Given the description of an element on the screen output the (x, y) to click on. 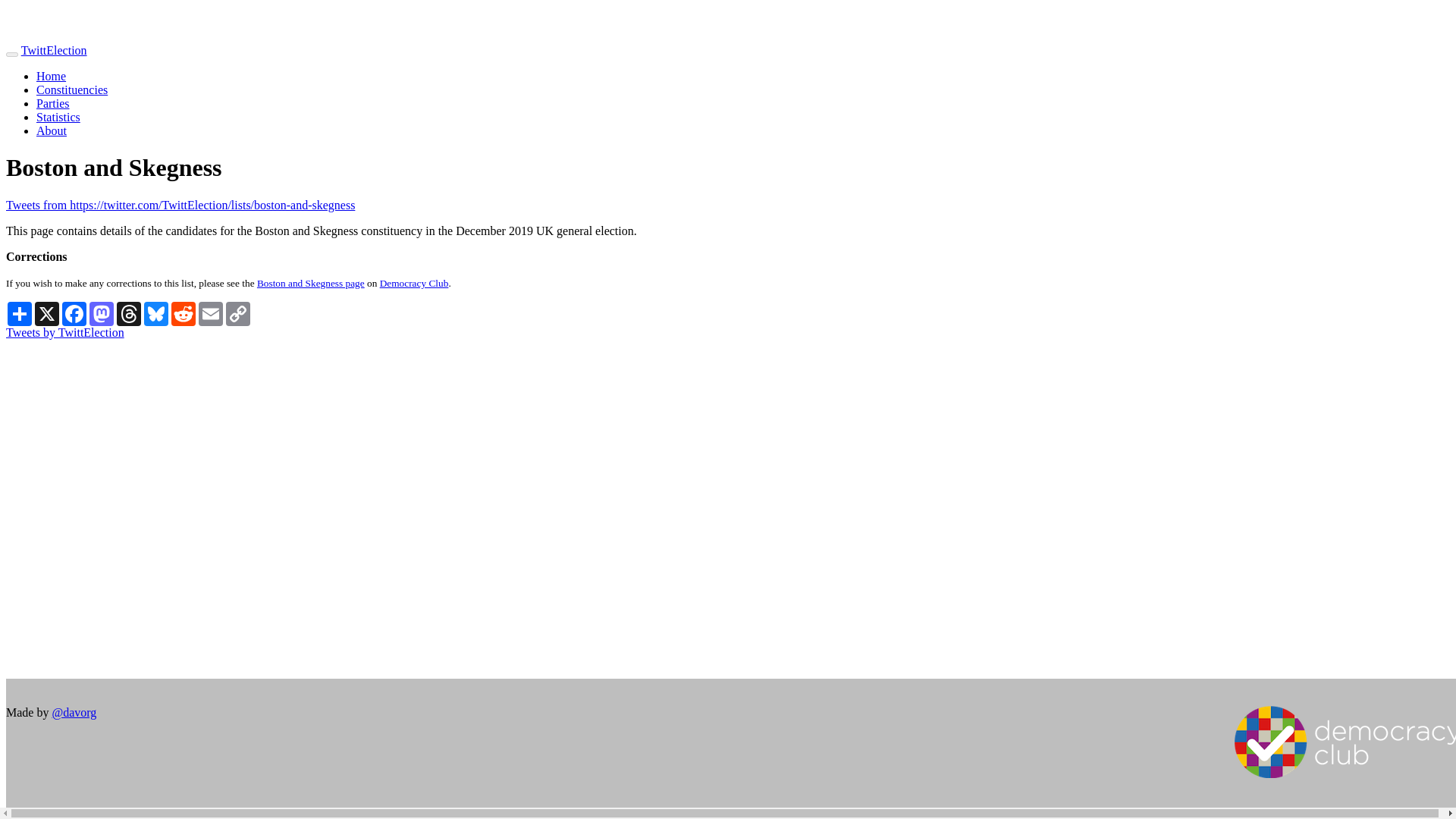
Constituencies (71, 89)
Boston and Skegness page (311, 283)
Threads (128, 313)
Democracy Club (414, 283)
Email (210, 313)
About (51, 130)
Reddit (183, 313)
Share (19, 313)
Mastodon (101, 313)
Copy Link (237, 313)
Home (50, 75)
X (47, 313)
Tweets by TwittElection (64, 332)
Parties (52, 103)
Statistics (58, 116)
